Given the description of an element on the screen output the (x, y) to click on. 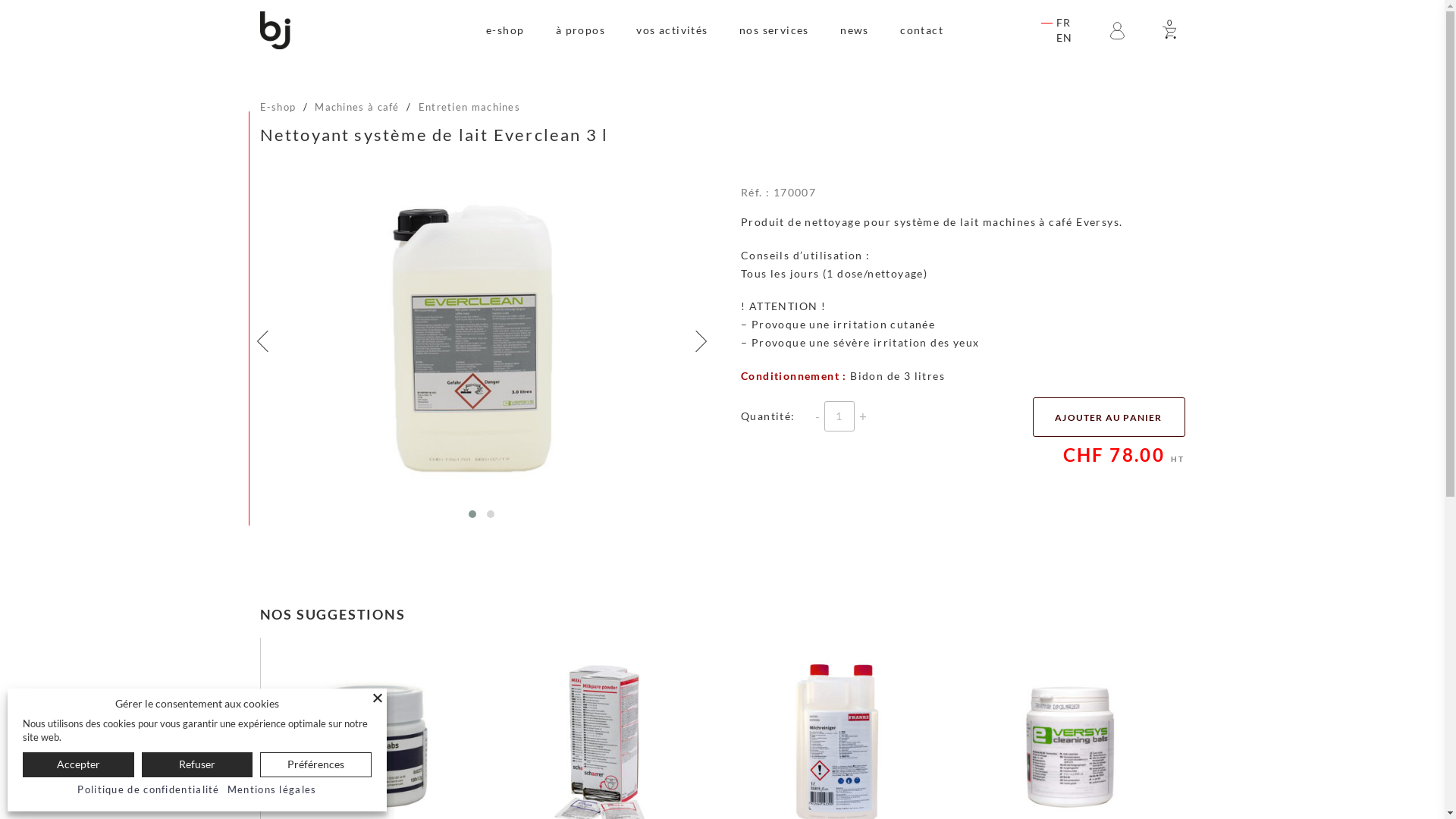
E-shop Element type: text (277, 106)
Qty Element type: hover (839, 416)
AJOUTER AU PANIER Element type: text (1108, 416)
Entretien machines Element type: text (469, 106)
contact Element type: text (921, 29)
news Element type: text (854, 29)
0 Element type: text (1170, 30)
EN Element type: text (1064, 37)
e-shop Element type: text (505, 29)
nos services Element type: text (773, 29)
